Given the description of an element on the screen output the (x, y) to click on. 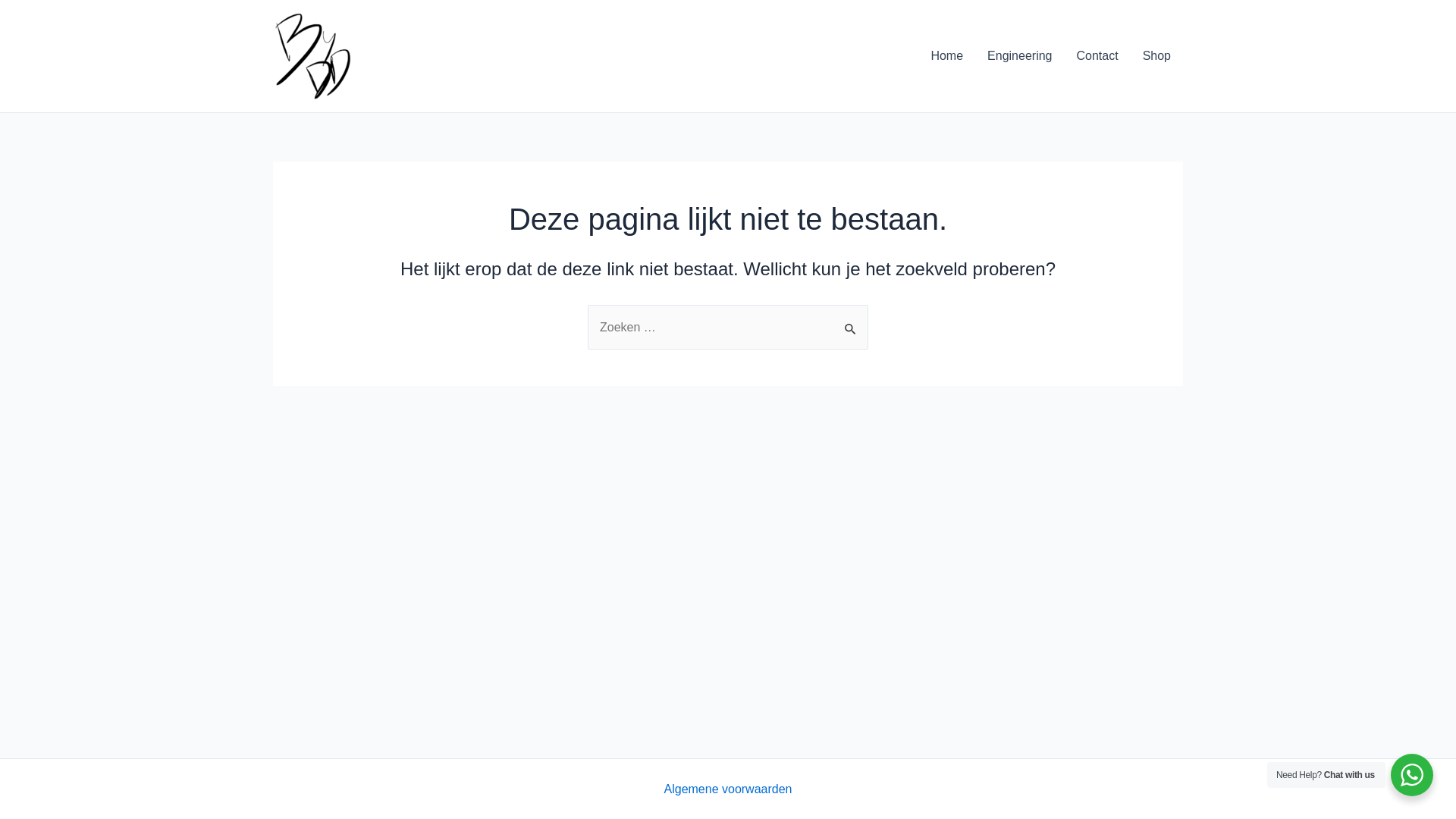
Zoeken Element type: text (851, 320)
Shop Element type: text (1156, 55)
Engineering Element type: text (1019, 55)
Contact Element type: text (1096, 55)
Algemene voorwaarden Element type: text (728, 789)
Home Element type: text (946, 55)
